Given the description of an element on the screen output the (x, y) to click on. 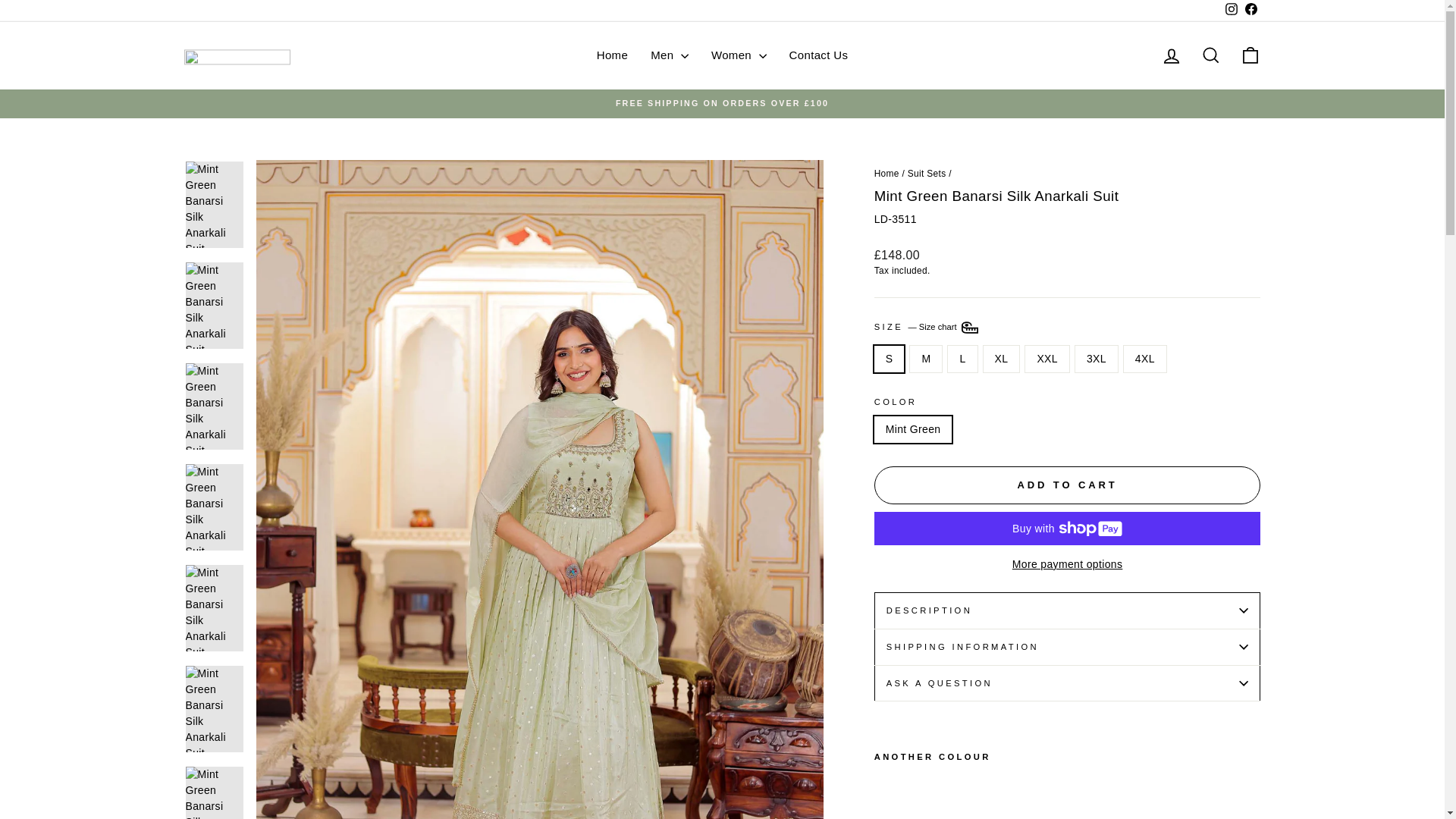
account (1170, 55)
Ladlee Direct on Facebook (1250, 10)
Ladlee Direct on Instagram (1230, 10)
icon-bag-minimal (1249, 55)
